Given the description of an element on the screen output the (x, y) to click on. 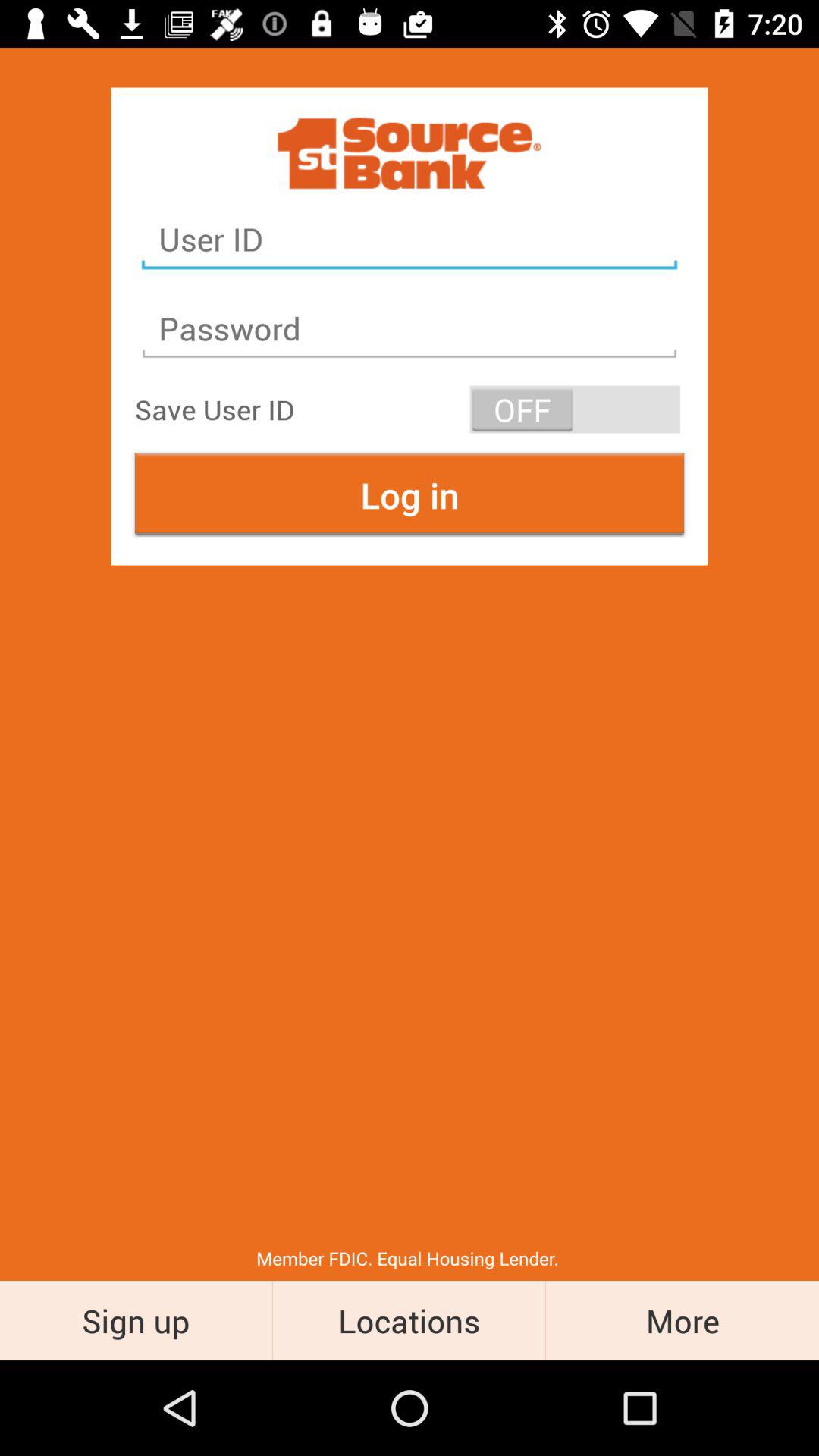
select sign up (136, 1320)
